Given the description of an element on the screen output the (x, y) to click on. 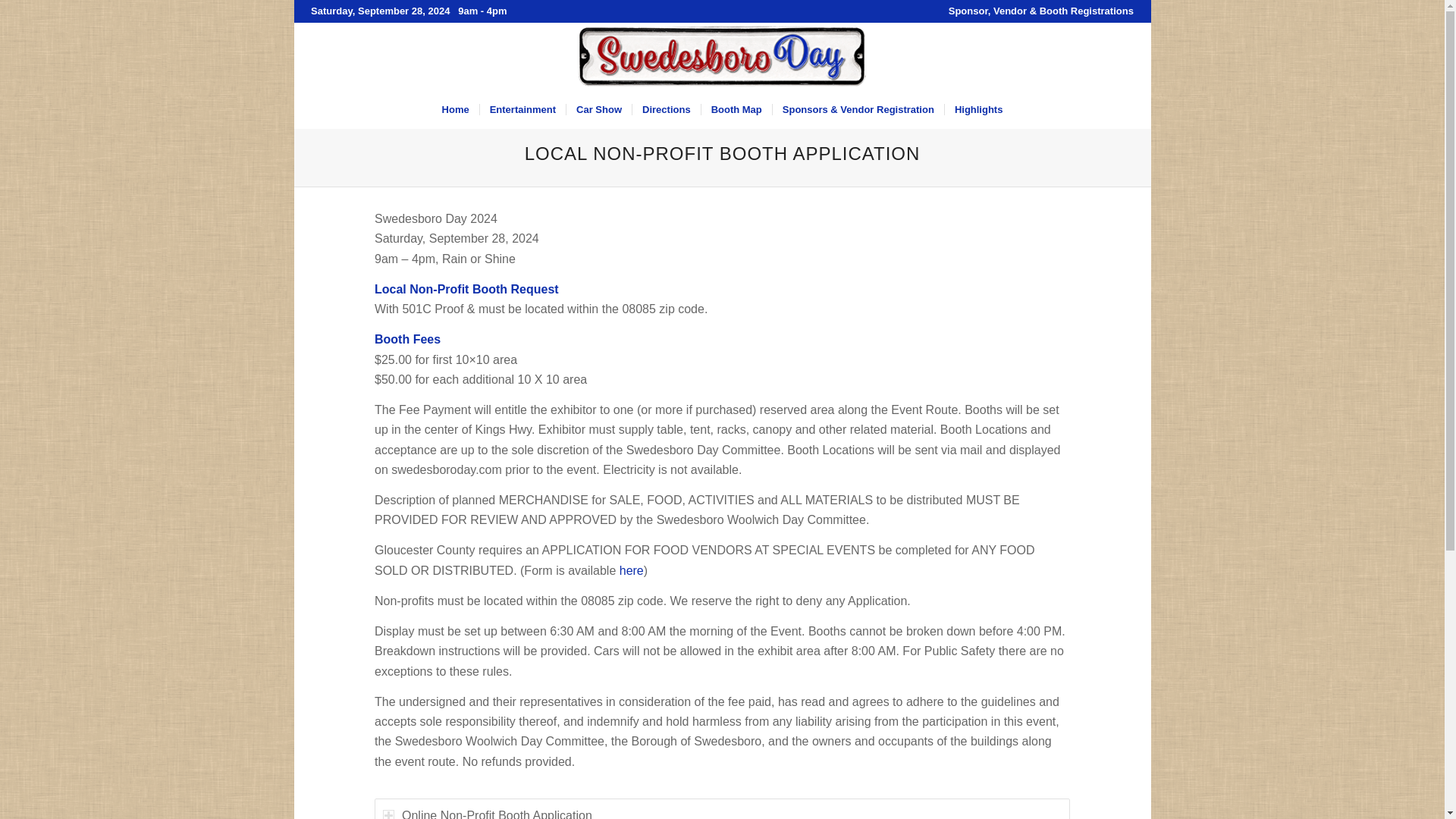
Entertainment (522, 109)
Home (455, 109)
Booth Map (735, 109)
here (631, 570)
Directions (665, 109)
Car Show (598, 109)
